Given the description of an element on the screen output the (x, y) to click on. 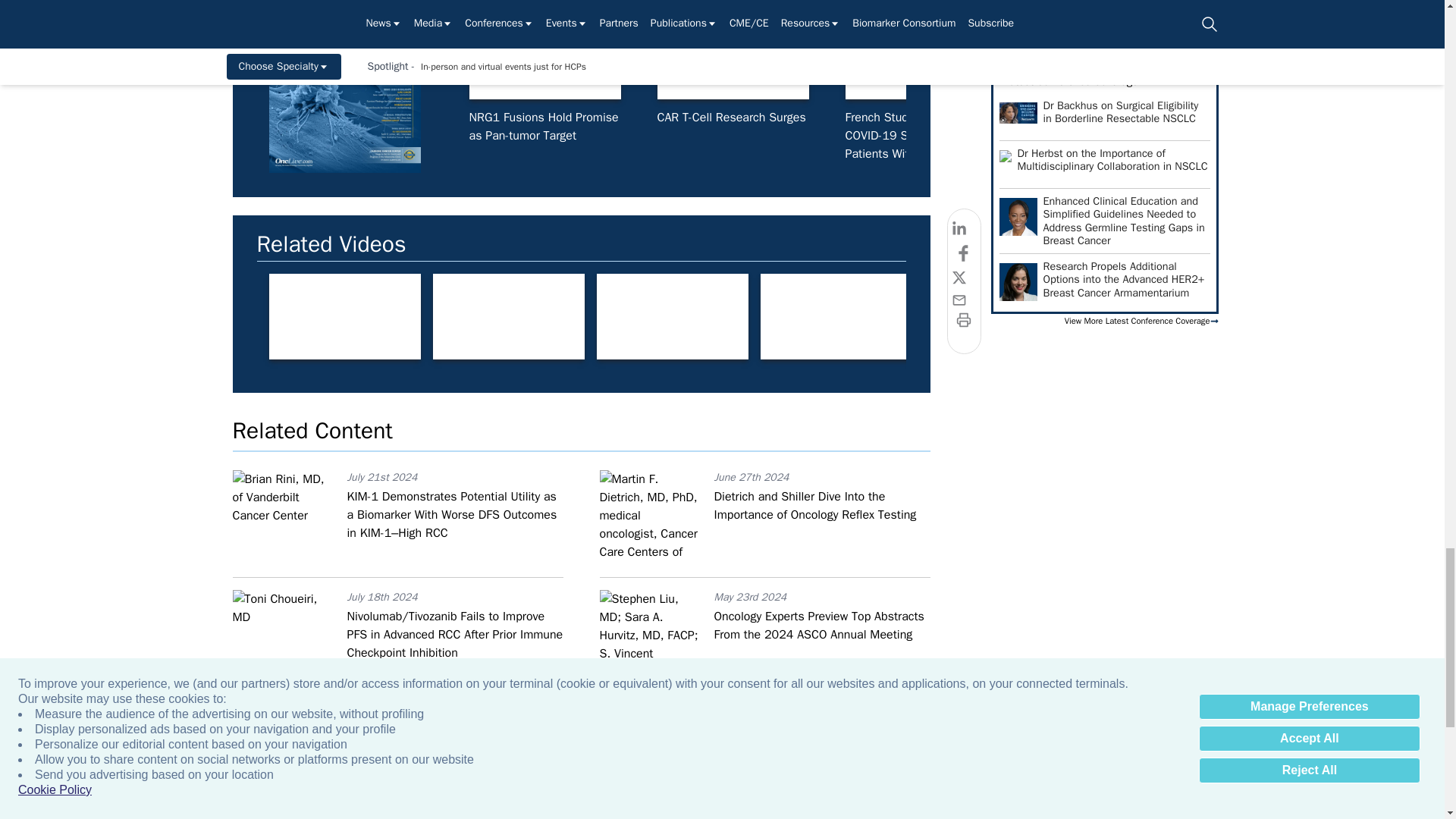
Antonio Cigliola, MD (1163, 316)
NRG1 Fusions Hold Promise as Pan-tumor Target (544, 56)
Brian I. Rini, MD, FASCO (343, 316)
Marc Machaalani, MD (835, 316)
Razane El Hajj Chehade, MD (999, 316)
Carl H. June, MD (732, 56)
Uncovering TP53 Mutations in MDS, AML Requires NGS (1108, 56)
A panel of 5 experts on breast cancer (671, 316)
First Nonoperative Option Arrives for Low-Grade UTUC (1297, 56)
A panel of 5 experts on breast cancer (507, 316)
